Given the description of an element on the screen output the (x, y) to click on. 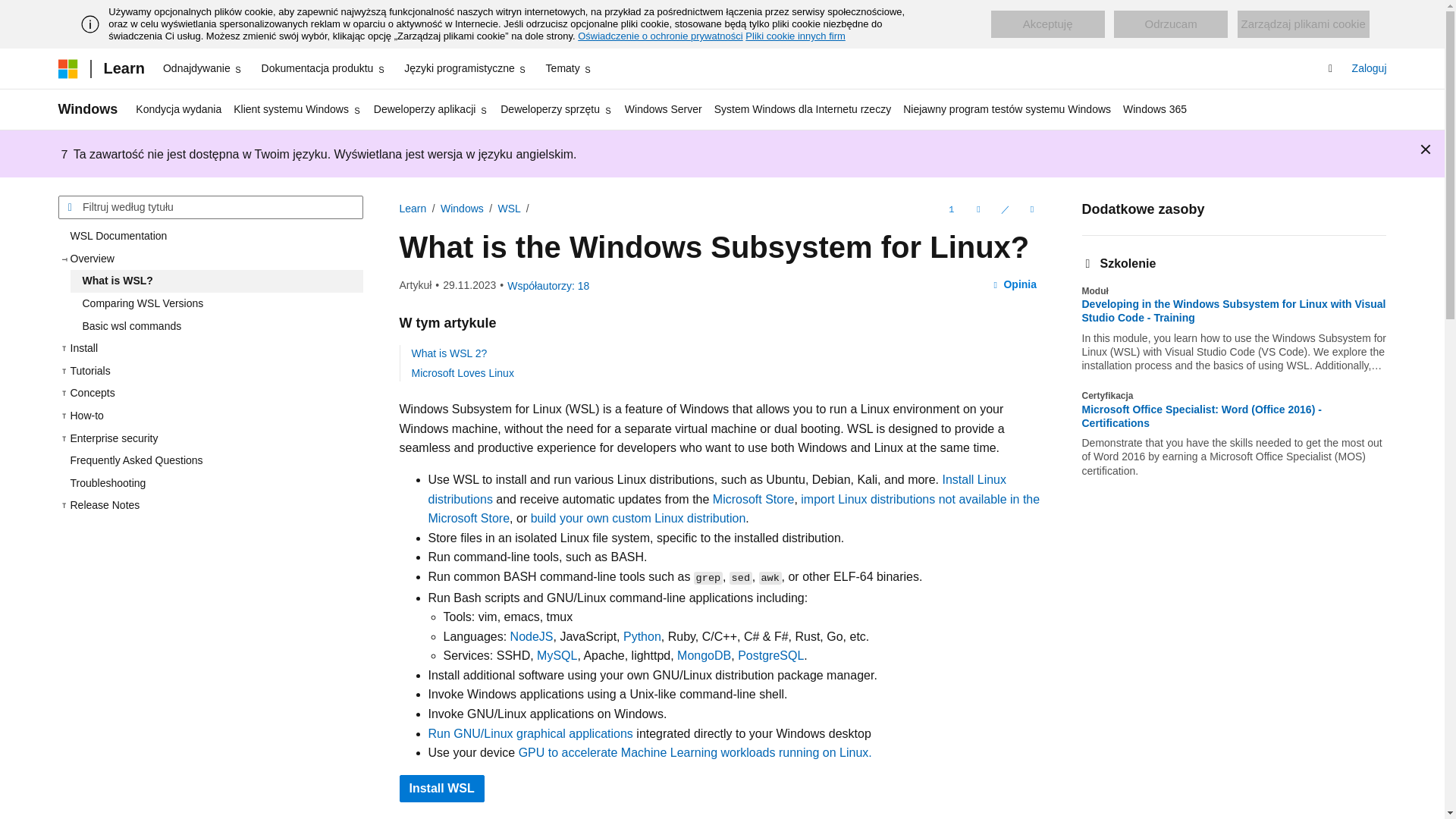
Tematy (569, 68)
Zaloguj (1369, 68)
Odrzucam (1170, 23)
Odnajdywanie (202, 68)
Edytuj ten dokument (1004, 209)
Pliki cookie innych firm (795, 35)
Learn (123, 68)
Klient systemu Windows (297, 109)
Kondycja wydania (178, 109)
Deweloperzy aplikacji (431, 109)
Dokumentacja produktu (324, 68)
Windows (87, 109)
